Given the description of an element on the screen output the (x, y) to click on. 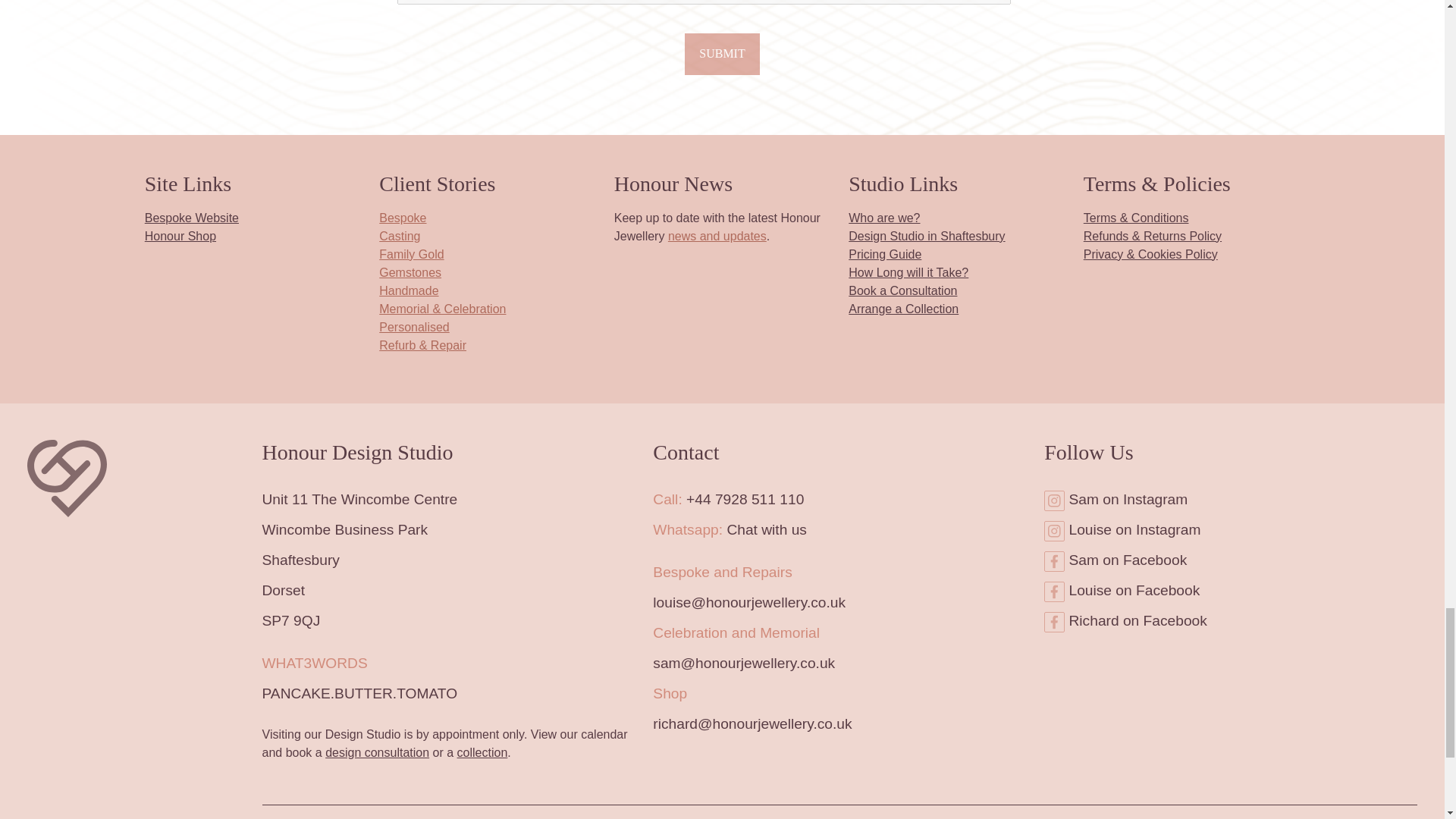
Submit (722, 53)
